Given the description of an element on the screen output the (x, y) to click on. 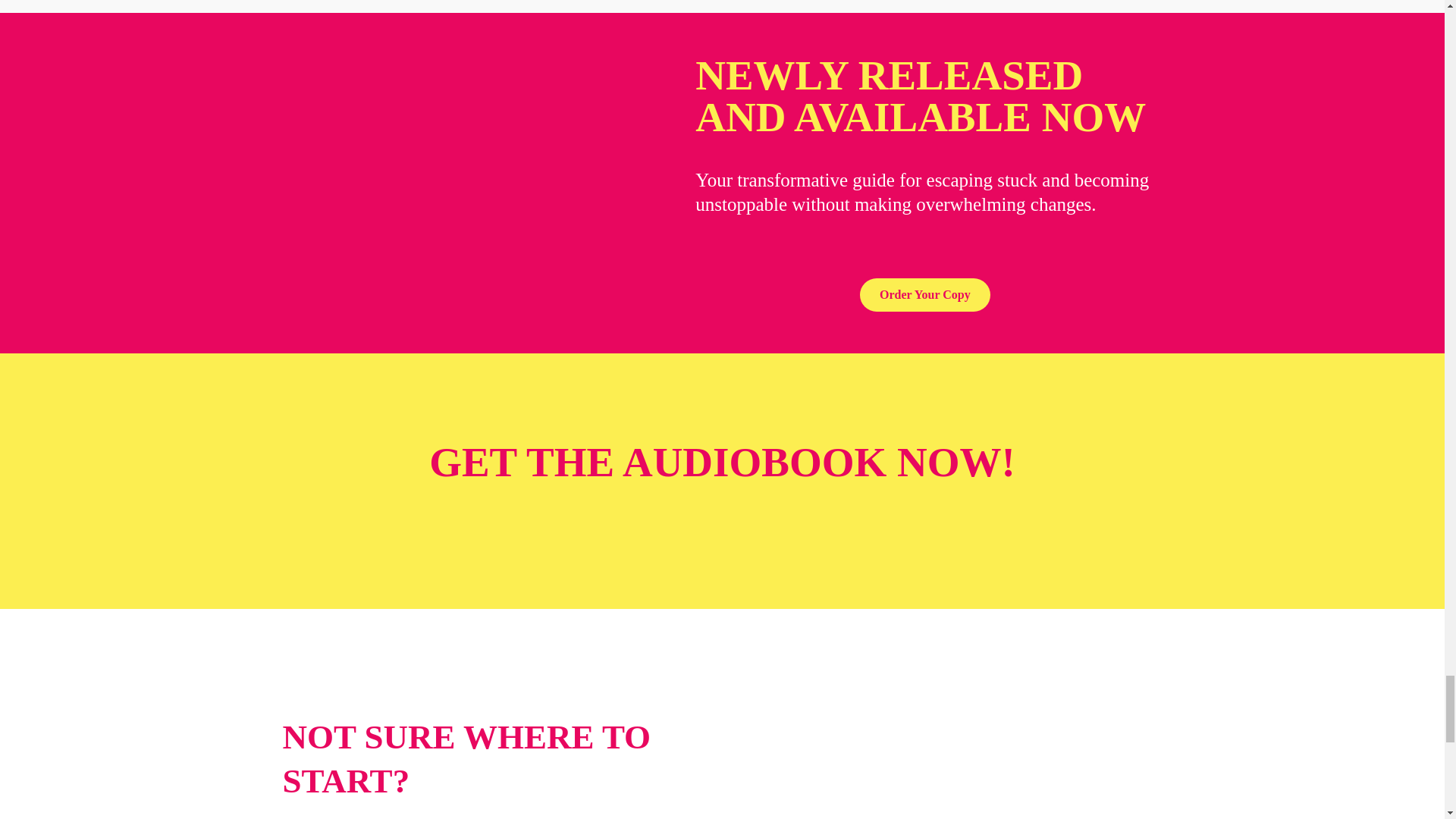
Order Your Copy (925, 295)
